Given the description of an element on the screen output the (x, y) to click on. 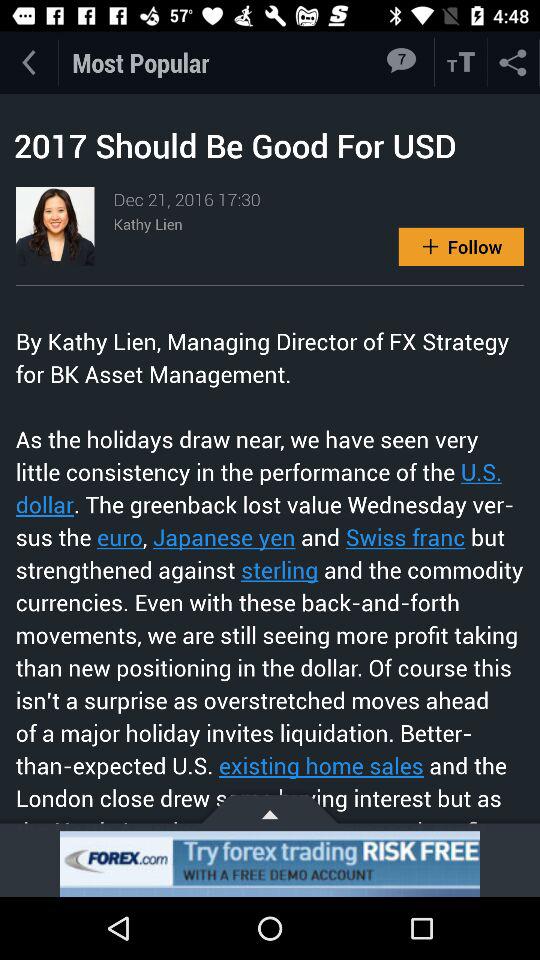
share (513, 62)
